Given the description of an element on the screen output the (x, y) to click on. 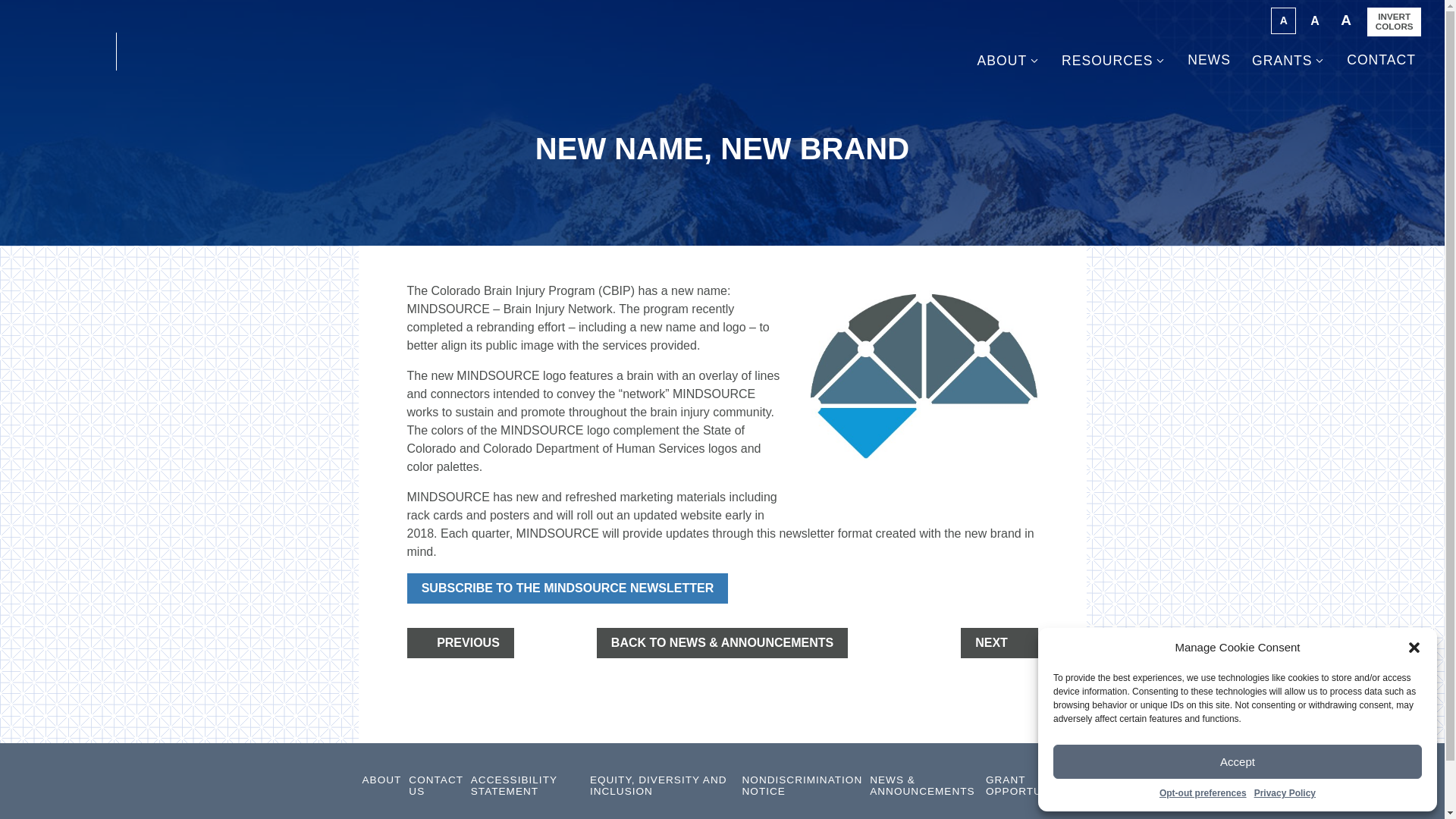
Medium text. (1314, 21)
RESOURCES (1113, 60)
Privacy Policy (1284, 793)
ABOUT (1008, 60)
Toggle inverse colors. (1394, 21)
Link to Colorado Department of Human Services. (66, 51)
NEXT (999, 643)
NEWS (1209, 59)
CONTACT (1380, 59)
Opt-out preferences (1202, 793)
A (1345, 21)
Accept (1237, 761)
SUBSCRIBE TO THE MINDSOURCE NEWSLETTER (567, 588)
CONTACT US (436, 785)
A (1314, 21)
